Given the description of an element on the screen output the (x, y) to click on. 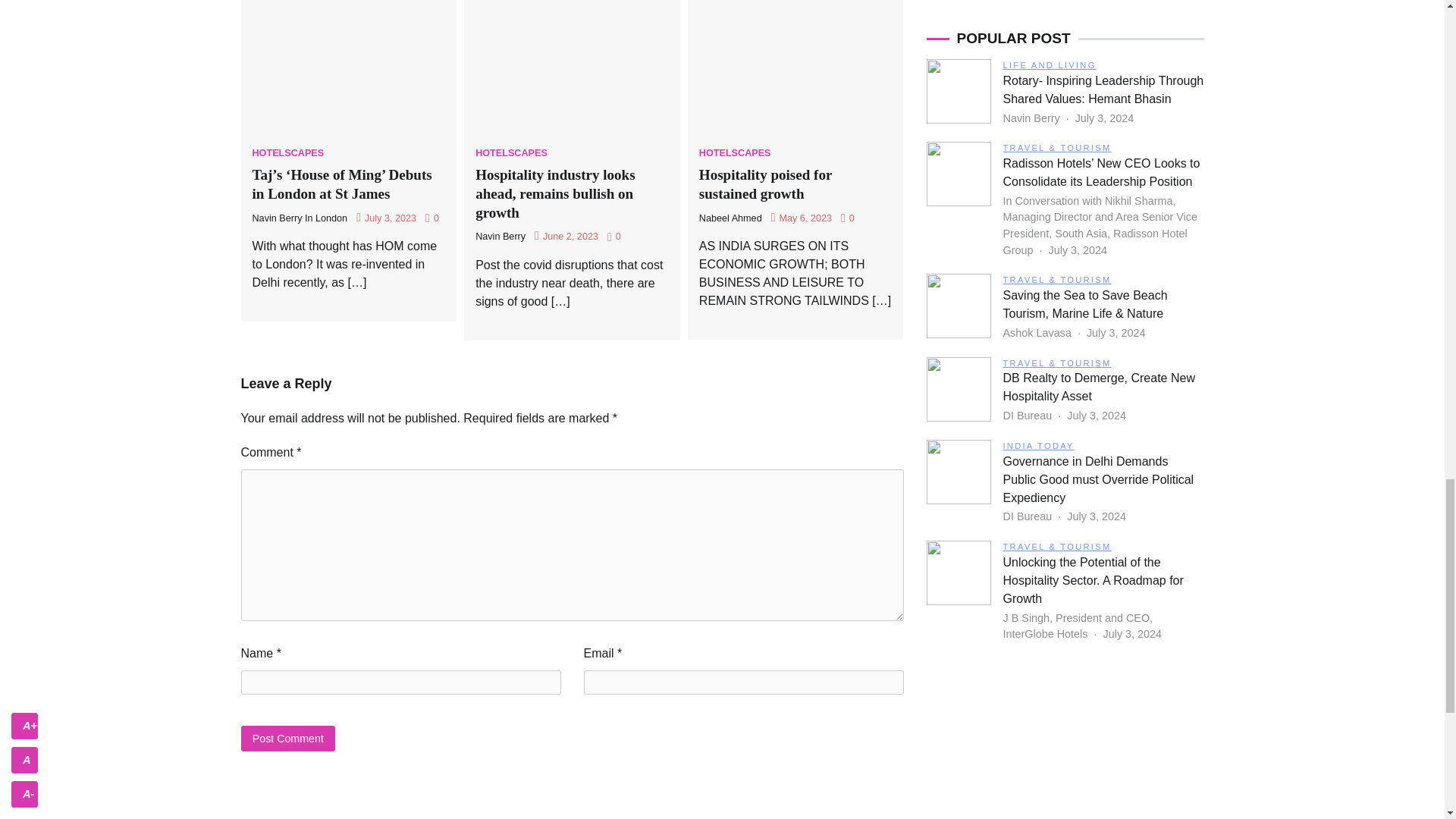
Post Comment (288, 738)
Nabeel Ahmed (729, 217)
Post Comment (288, 738)
Navin Berry (500, 235)
HOTELSCAPES (287, 153)
Hospitality industry looks ahead, remains bullish on growth (555, 193)
HOTELSCAPES (511, 153)
HOTELSCAPES (734, 153)
Hospitality poised for sustained growth (765, 184)
Navin Berry In London (299, 217)
